Given the description of an element on the screen output the (x, y) to click on. 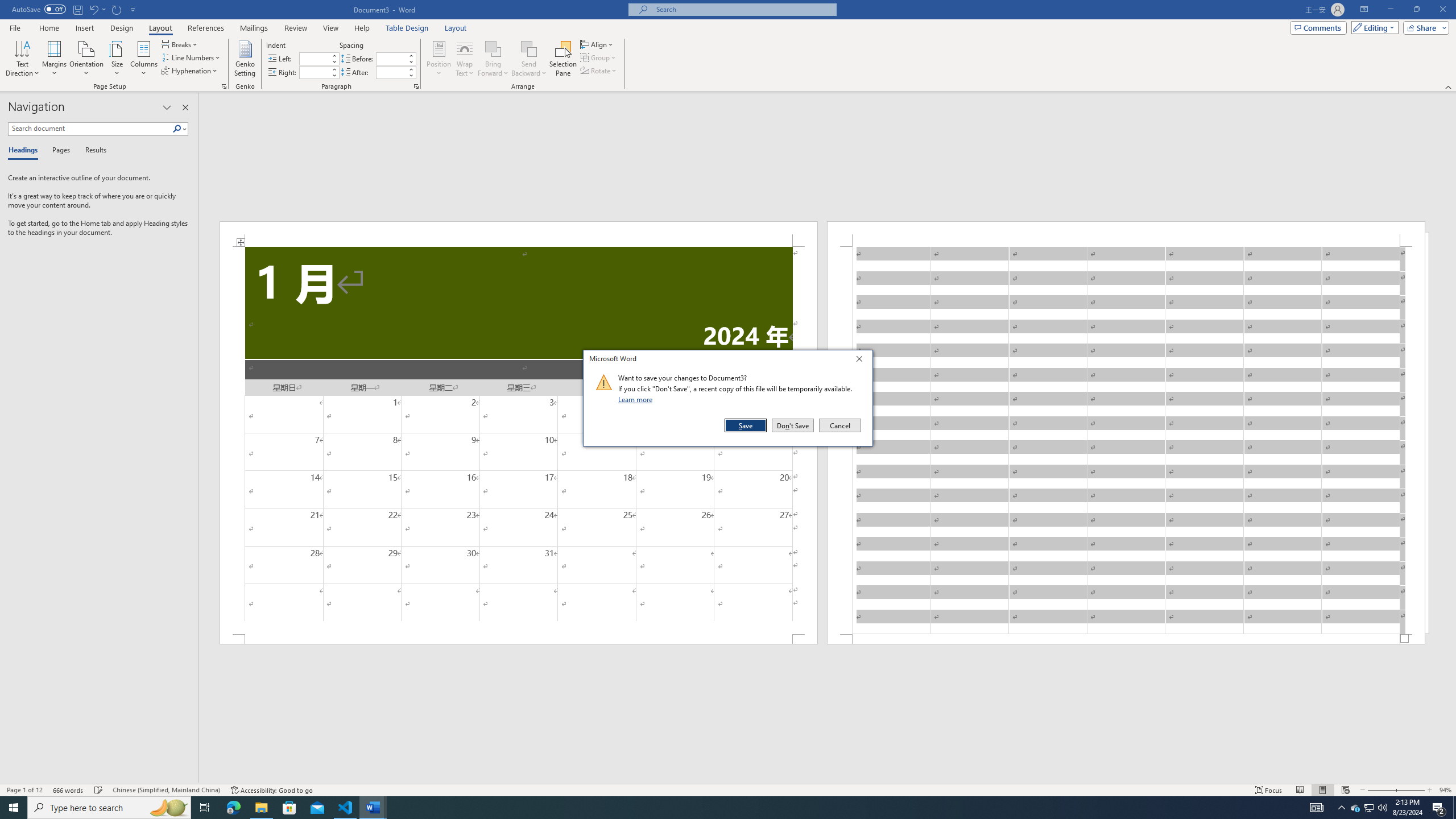
Align (597, 44)
Search highlights icon opens search home window (167, 807)
